Given the description of an element on the screen output the (x, y) to click on. 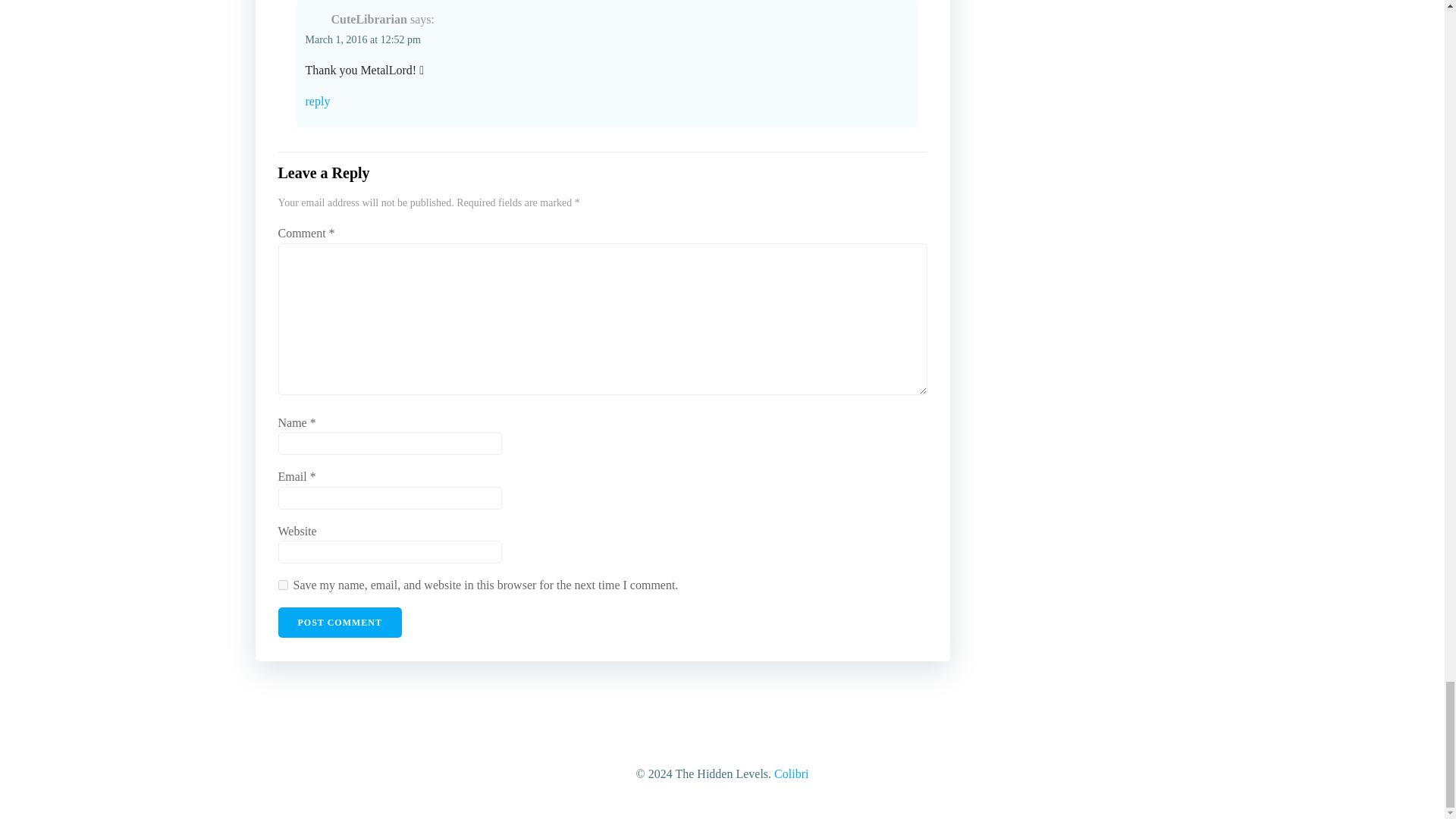
Post Comment (339, 622)
Post Comment (339, 622)
yes (282, 584)
March 1, 2016 at 12:52 pm (362, 39)
reply (606, 101)
